Given the description of an element on the screen output the (x, y) to click on. 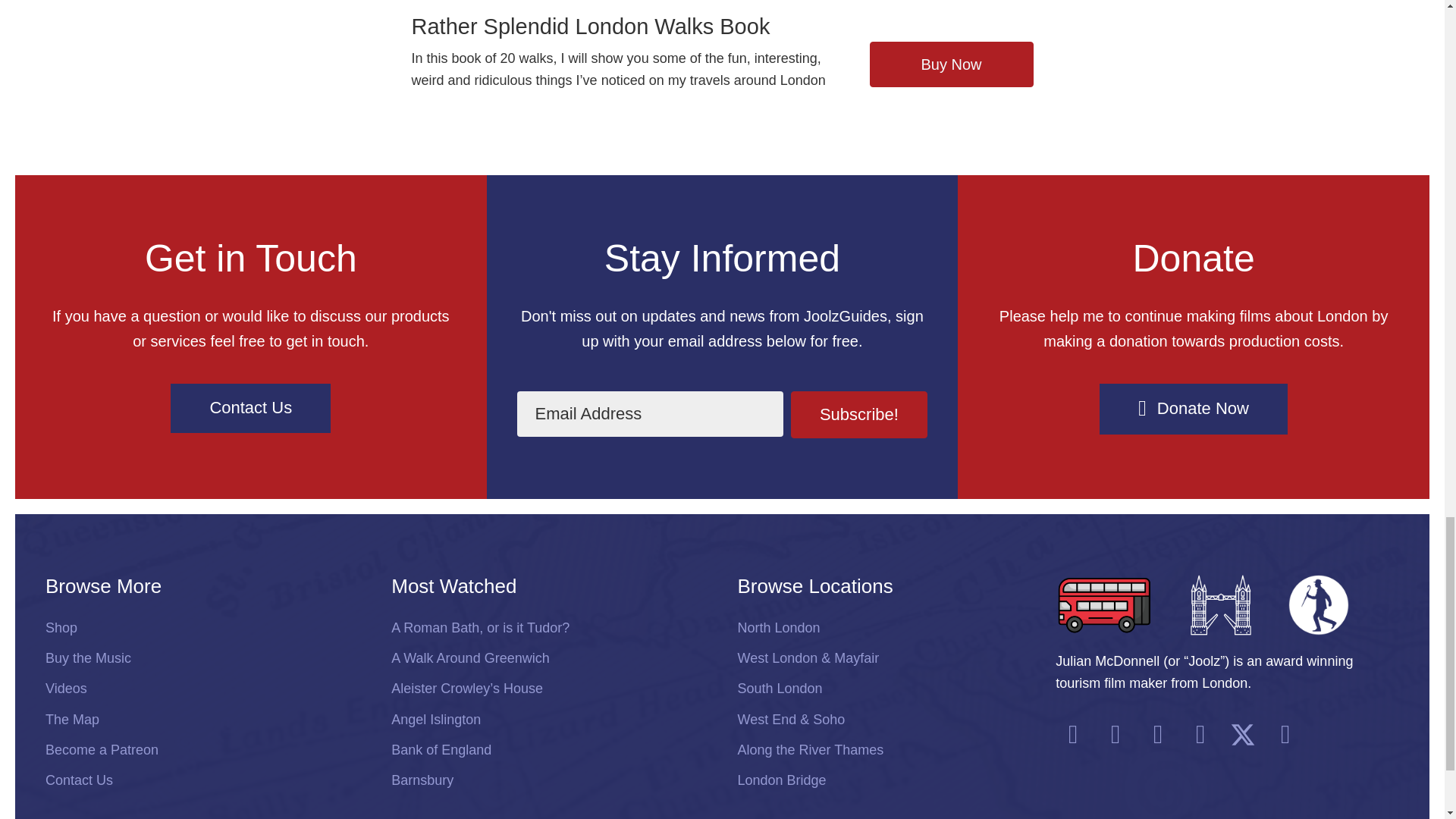
tower-bridge-w (1220, 604)
North London (880, 627)
joolz-logo-icon-white (1318, 604)
Bank of England (548, 749)
LinkedIn (1285, 734)
Barnsbury (548, 780)
Subscribe! (859, 414)
YouTube (1072, 734)
Become a Patreon (203, 749)
Contact Us (203, 780)
